Given the description of an element on the screen output the (x, y) to click on. 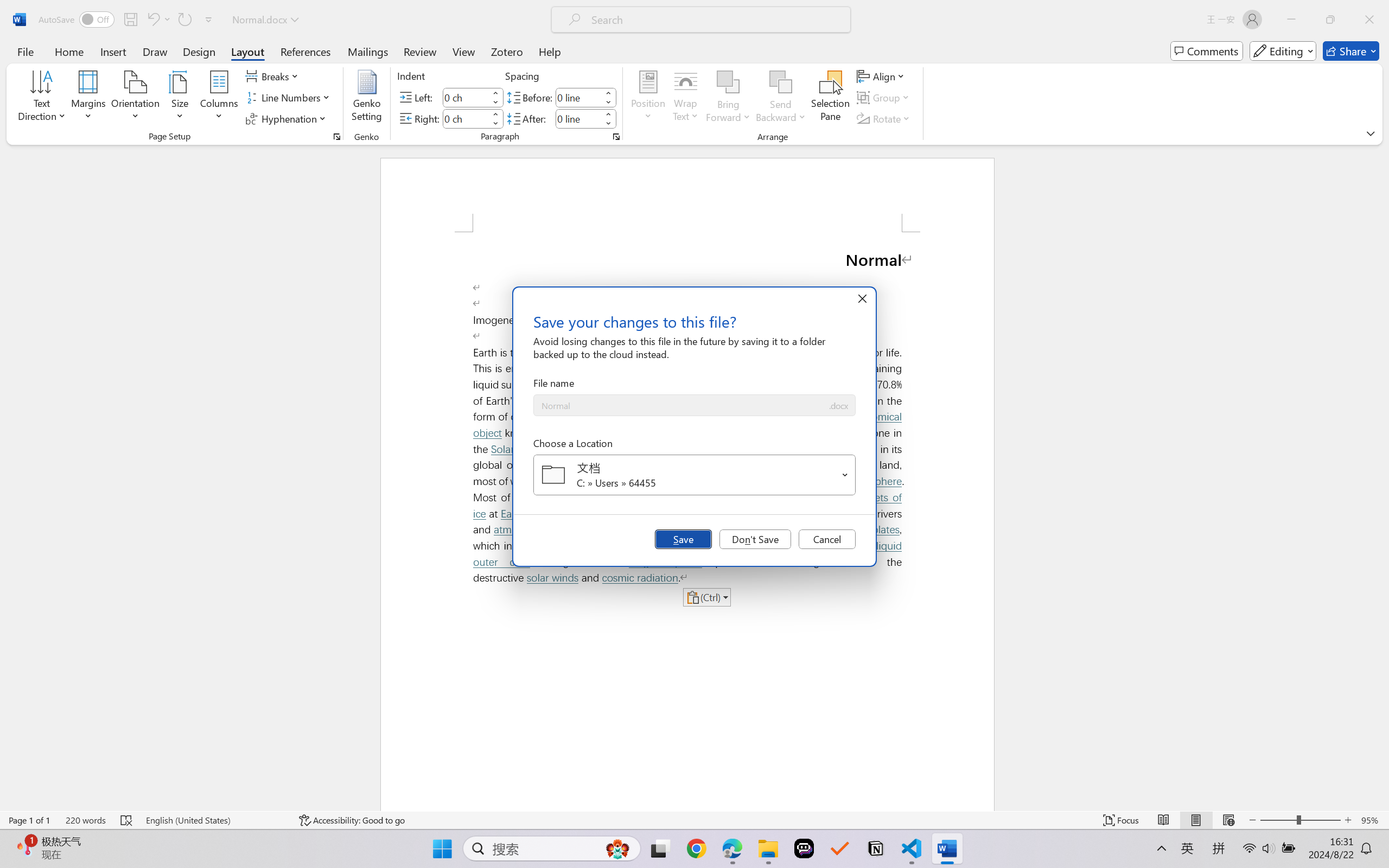
Spacing Before (578, 96)
Open (844, 474)
Undo Paste Destination Formatting (158, 19)
Save as type (837, 405)
Selection Pane... (830, 97)
